Given the description of an element on the screen output the (x, y) to click on. 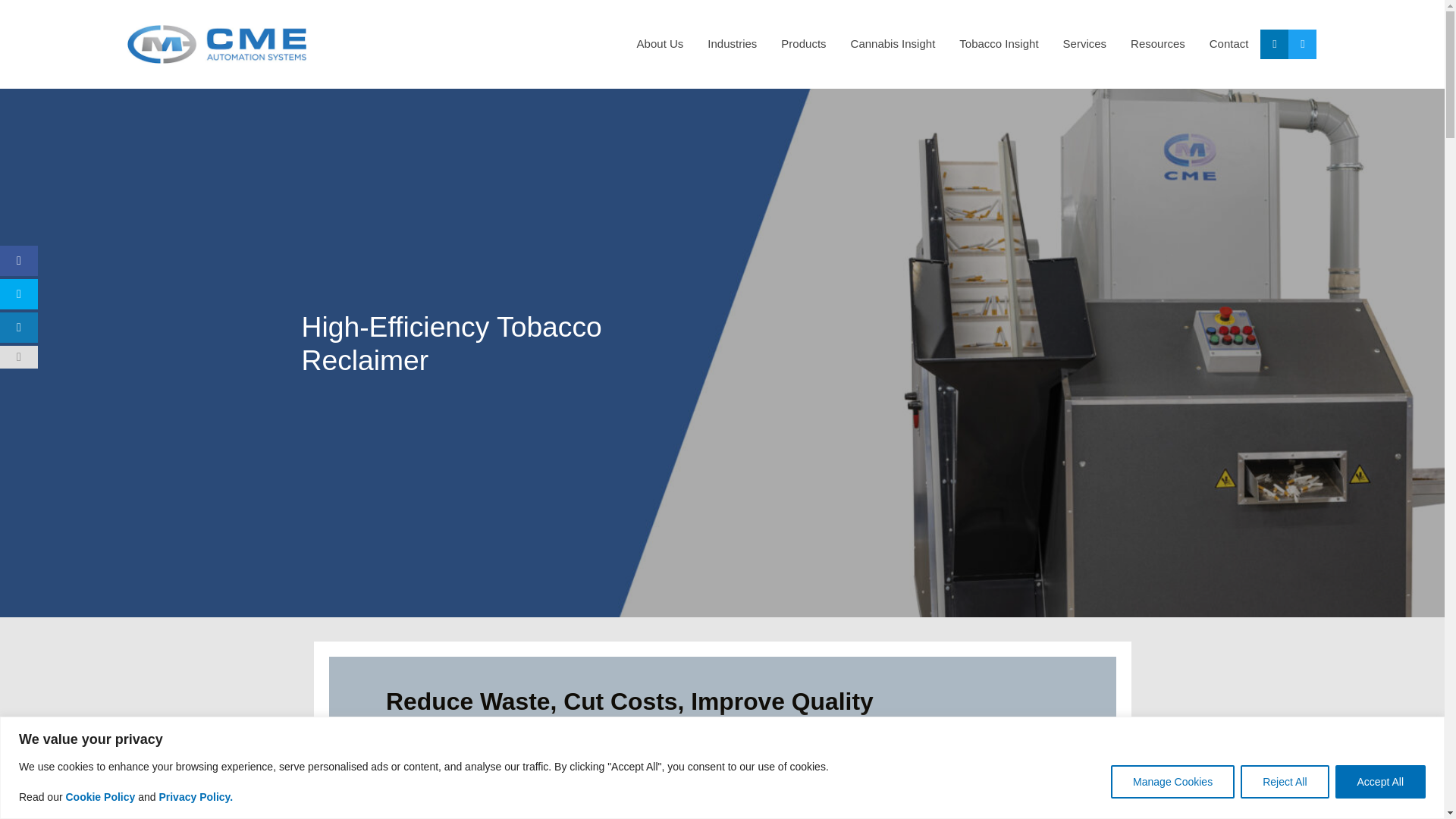
About Us (659, 43)
Products (803, 43)
About Us (659, 43)
Accept All (1380, 780)
Reject All (1283, 780)
Privacy Policy. (195, 796)
Industries (731, 43)
Cookie Policy (100, 796)
Products (803, 43)
Manage Cookies (1172, 780)
Industries (731, 43)
